Given the description of an element on the screen output the (x, y) to click on. 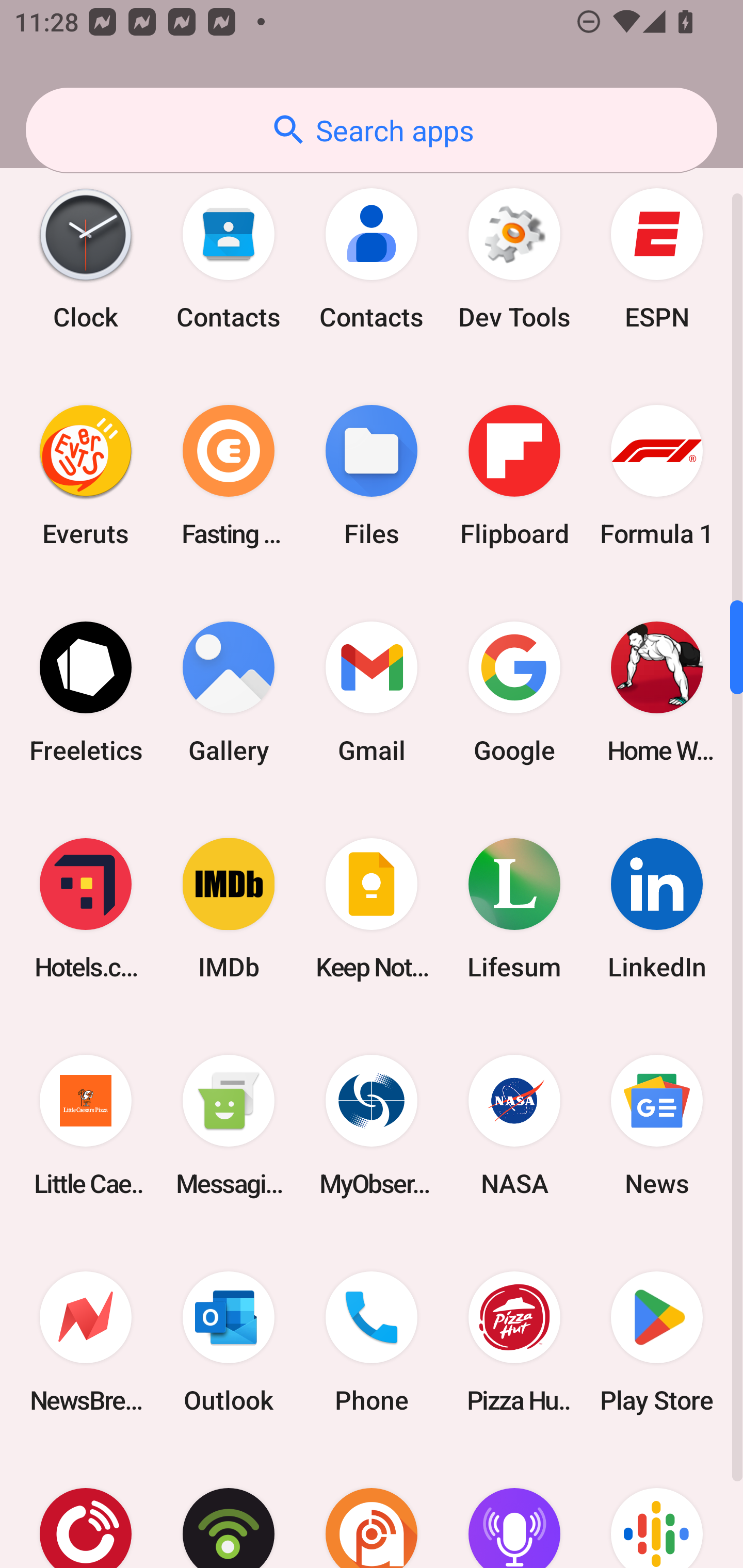
  Search apps (371, 130)
Clock (85, 258)
Contacts (228, 258)
Contacts (371, 258)
Dev Tools (514, 258)
ESPN (656, 258)
Everuts (85, 474)
Fasting Coach (228, 474)
Files (371, 474)
Flipboard (514, 474)
Formula 1 (656, 474)
Freeletics (85, 692)
Gallery (228, 692)
Gmail (371, 692)
Google (514, 692)
Home Workout (656, 692)
Hotels.com (85, 909)
IMDb (228, 909)
Keep Notes (371, 909)
Lifesum (514, 909)
LinkedIn (656, 909)
Little Caesars Pizza (85, 1125)
Messaging (228, 1125)
MyObservatory (371, 1125)
NASA (514, 1125)
News (656, 1125)
NewsBreak (85, 1342)
Outlook (228, 1342)
Phone (371, 1342)
Pizza Hut HK & Macau (514, 1342)
Play Store (656, 1342)
Player FM (85, 1509)
Podbean (228, 1509)
Podcast Addict (371, 1509)
Podcast Player (514, 1509)
Podcasts (656, 1509)
